Given the description of an element on the screen output the (x, y) to click on. 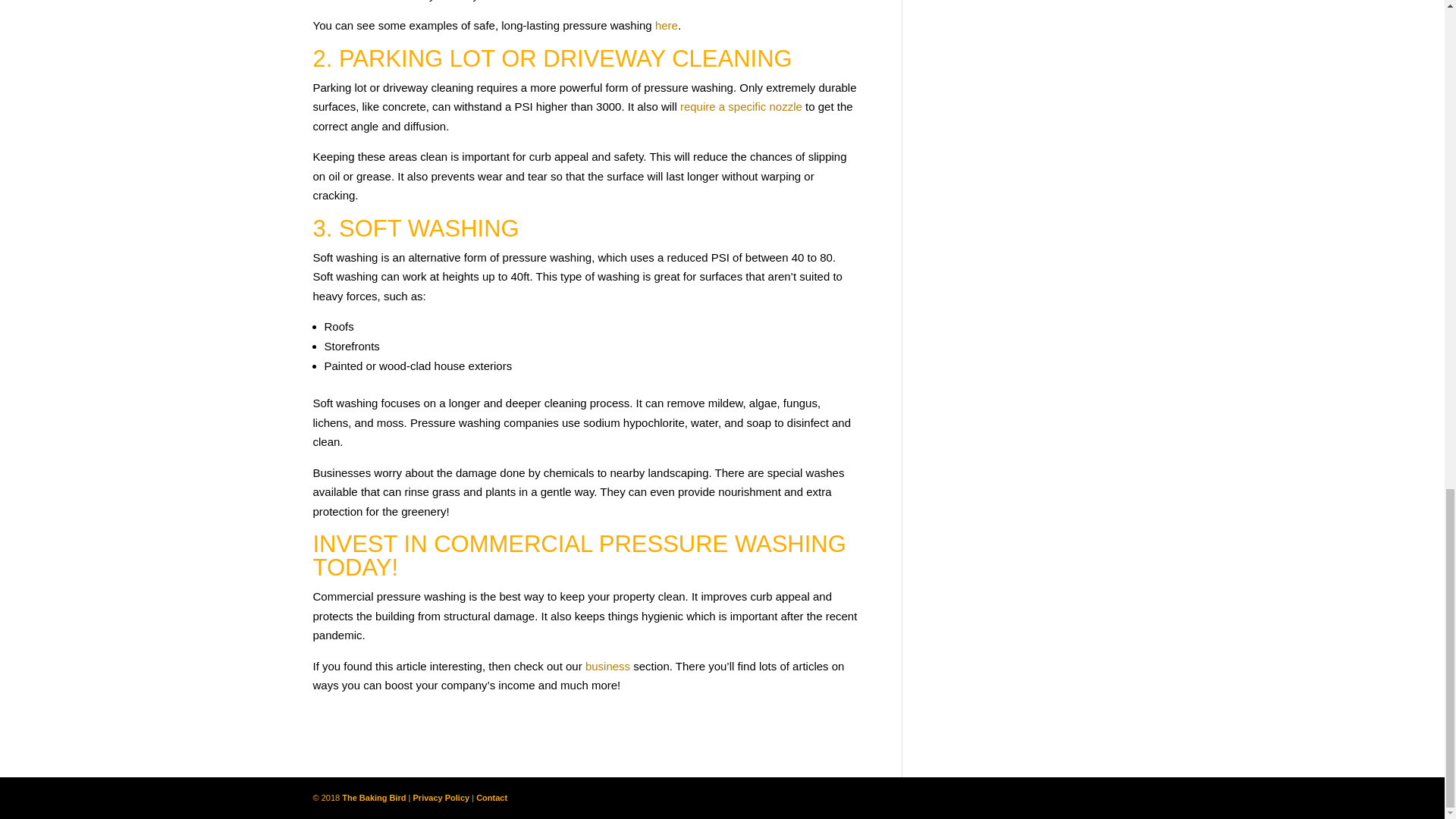
Contact (491, 797)
require a specific nozzle (740, 106)
business (607, 666)
here (666, 24)
The Baking Bird (374, 797)
Privacy Policy (441, 797)
